Given the description of an element on the screen output the (x, y) to click on. 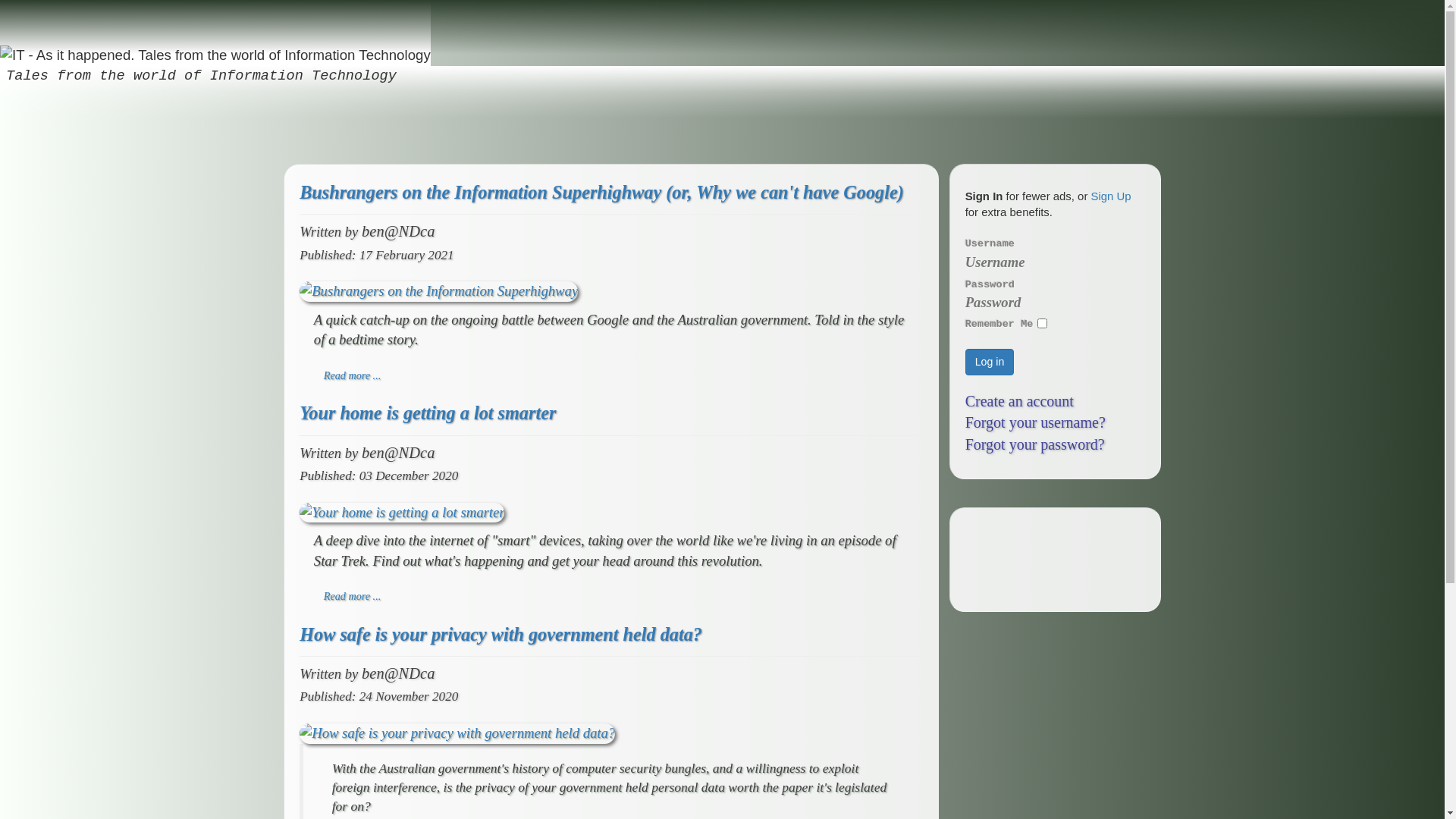
Create an account Element type: text (1019, 400)
Read more ... Element type: text (351, 375)
Join us on Facebook Element type: hover (1381, 20)
Forgot your username? Element type: text (1035, 422)
Read more ... Element type: text (351, 595)
Log in Element type: text (989, 361)
How safe is your privacy with government held data? Element type: text (500, 634)
Sign Up Element type: text (1111, 195)
Follow us on Twitter Element type: hover (1356, 20)
Sign in to your account Element type: hover (1406, 20)
Your home is getting a lot smarter Element type: text (427, 412)
Forgot your password? Element type: text (1034, 444)
